Given the description of an element on the screen output the (x, y) to click on. 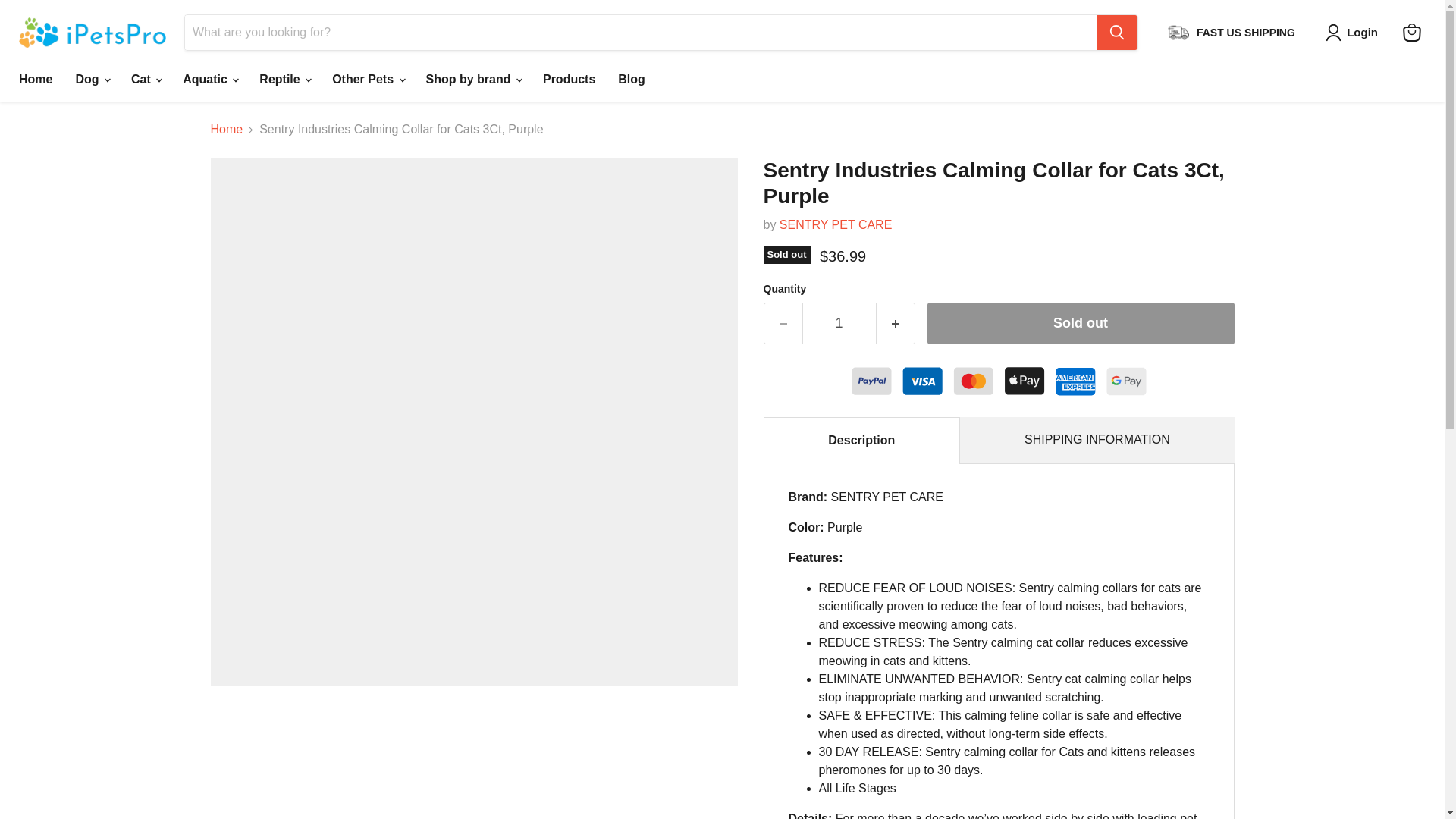
Home (35, 79)
1 (839, 322)
View cart (1411, 32)
SENTRY PET CARE (835, 224)
Login (1354, 32)
